Given the description of an element on the screen output the (x, y) to click on. 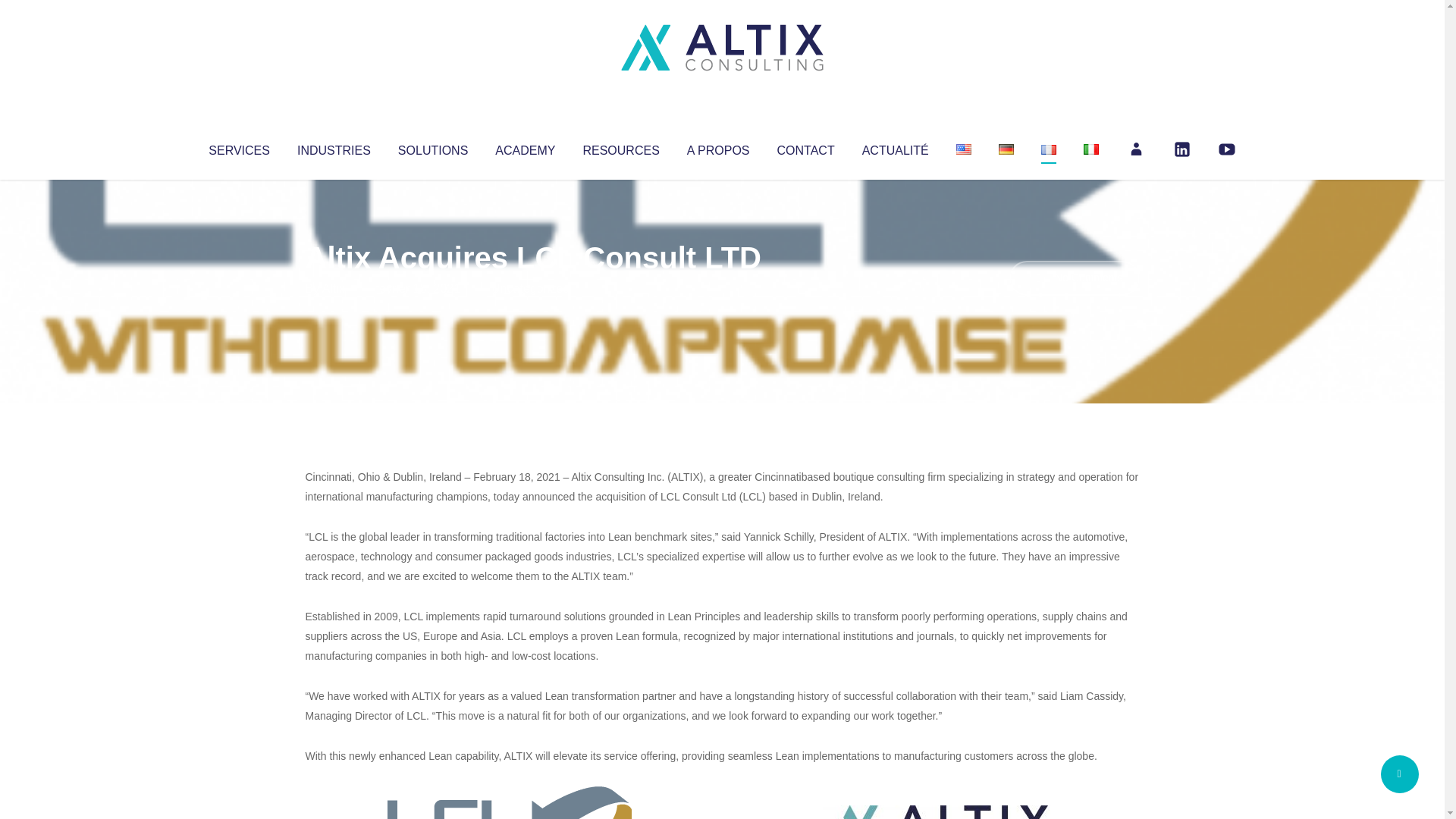
RESOURCES (620, 146)
INDUSTRIES (334, 146)
A PROPOS (718, 146)
Altix (333, 287)
Uncategorized (530, 287)
ACADEMY (524, 146)
SERVICES (238, 146)
Articles par Altix (333, 287)
SOLUTIONS (432, 146)
No Comments (1073, 278)
